Given the description of an element on the screen output the (x, y) to click on. 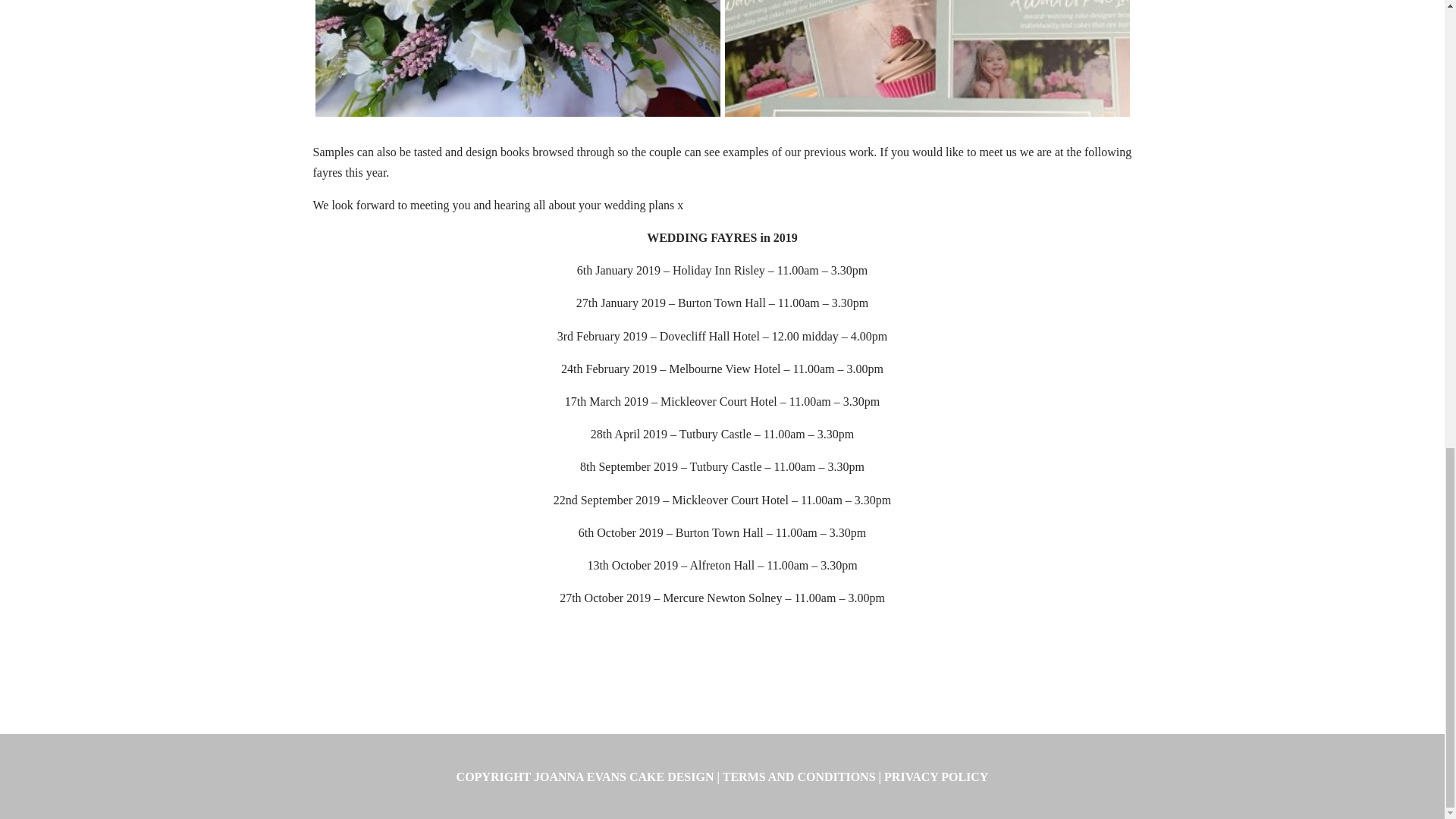
wedding fayre information (927, 115)
wedding fayre Flowers (517, 115)
PRIVACY POLICY (935, 775)
TERMS AND CONDITIONS (799, 775)
